Given the description of an element on the screen output the (x, y) to click on. 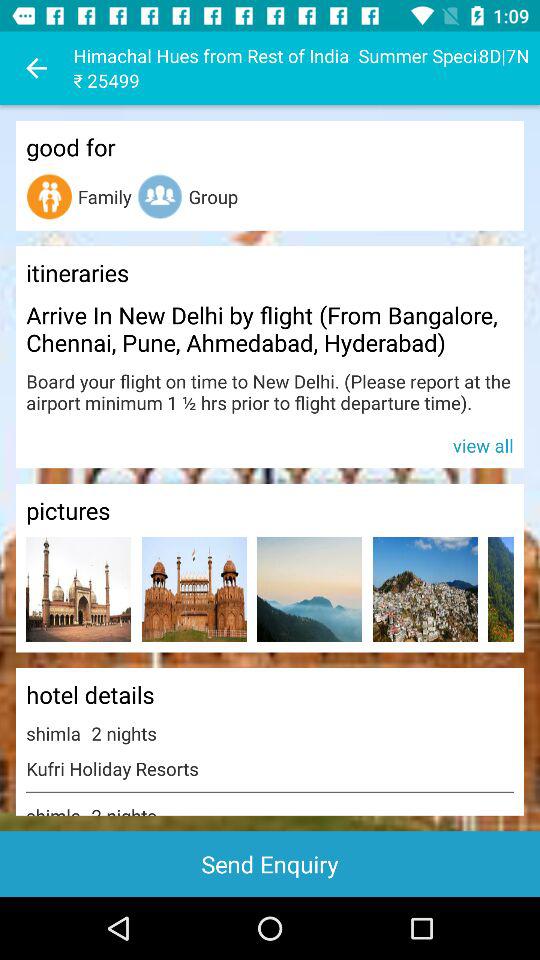
pictures (78, 589)
